Given the description of an element on the screen output the (x, y) to click on. 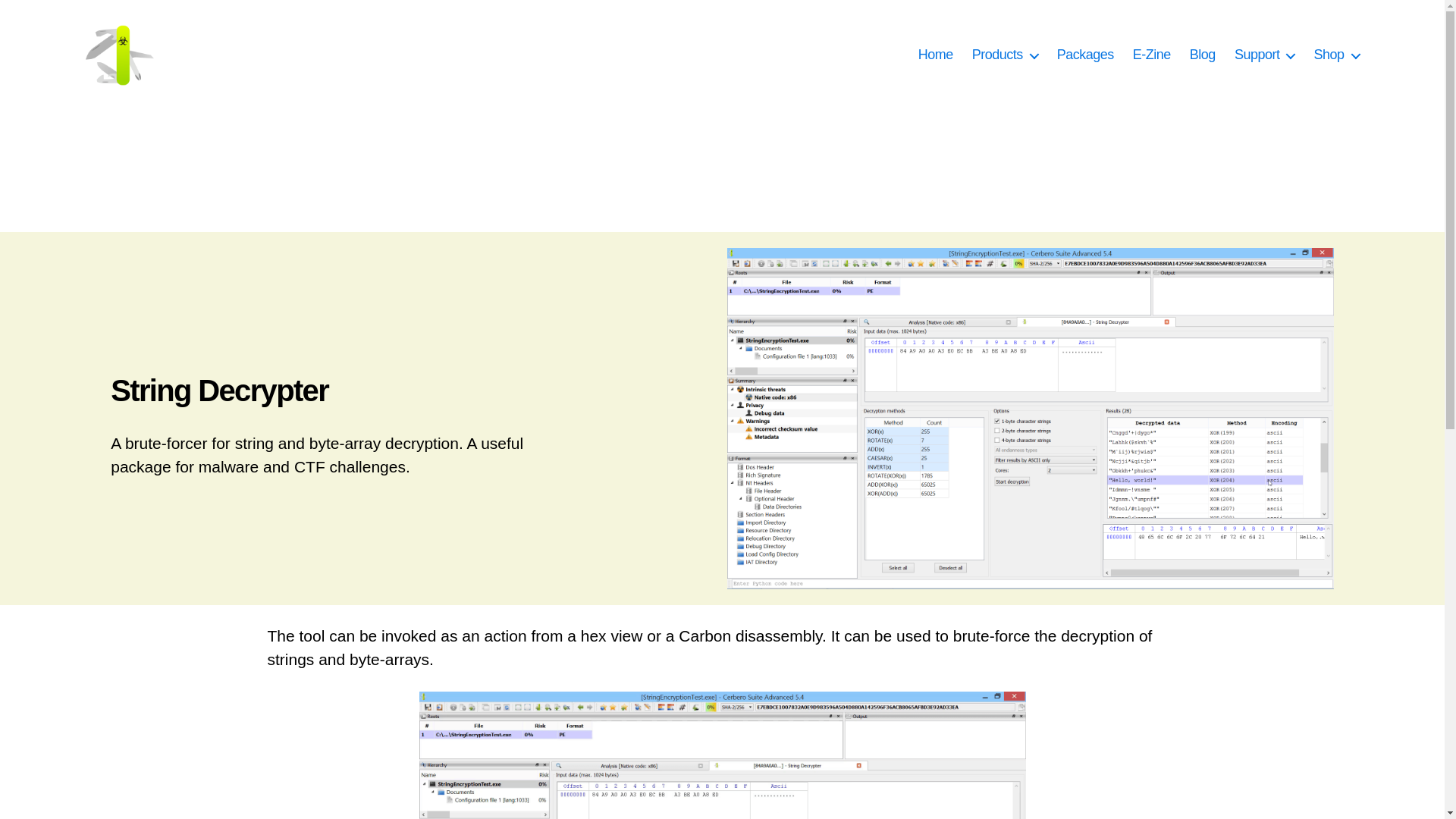
Home (935, 54)
Support (1264, 54)
Blog (1202, 54)
Shop (1335, 54)
E-Zine (1151, 54)
Products (1005, 54)
Packages (1085, 54)
